Given the description of an element on the screen output the (x, y) to click on. 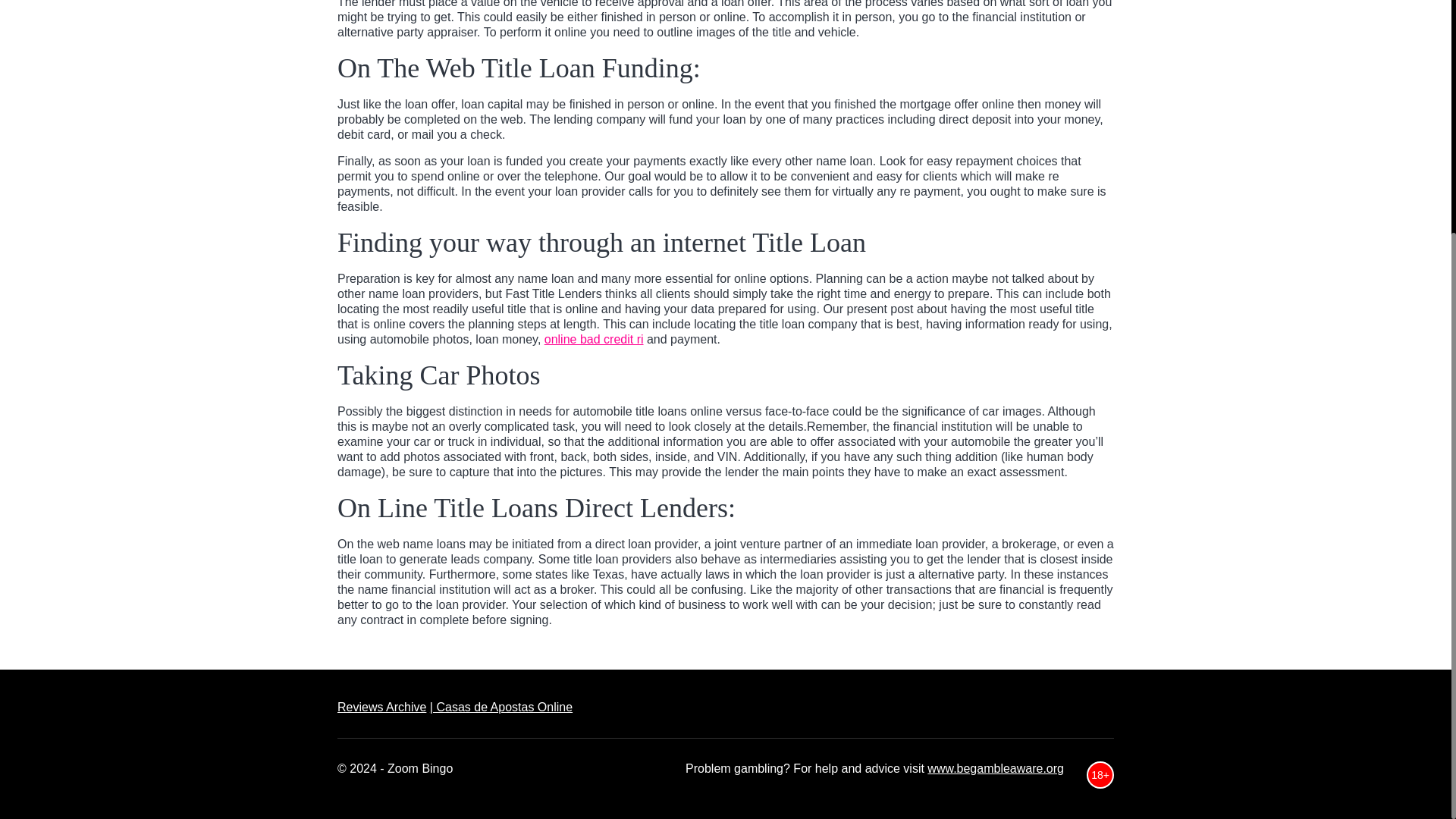
www.begambleaware.org (995, 768)
online bad credit ri (593, 338)
Reviews Archive (381, 707)
